Given the description of an element on the screen output the (x, y) to click on. 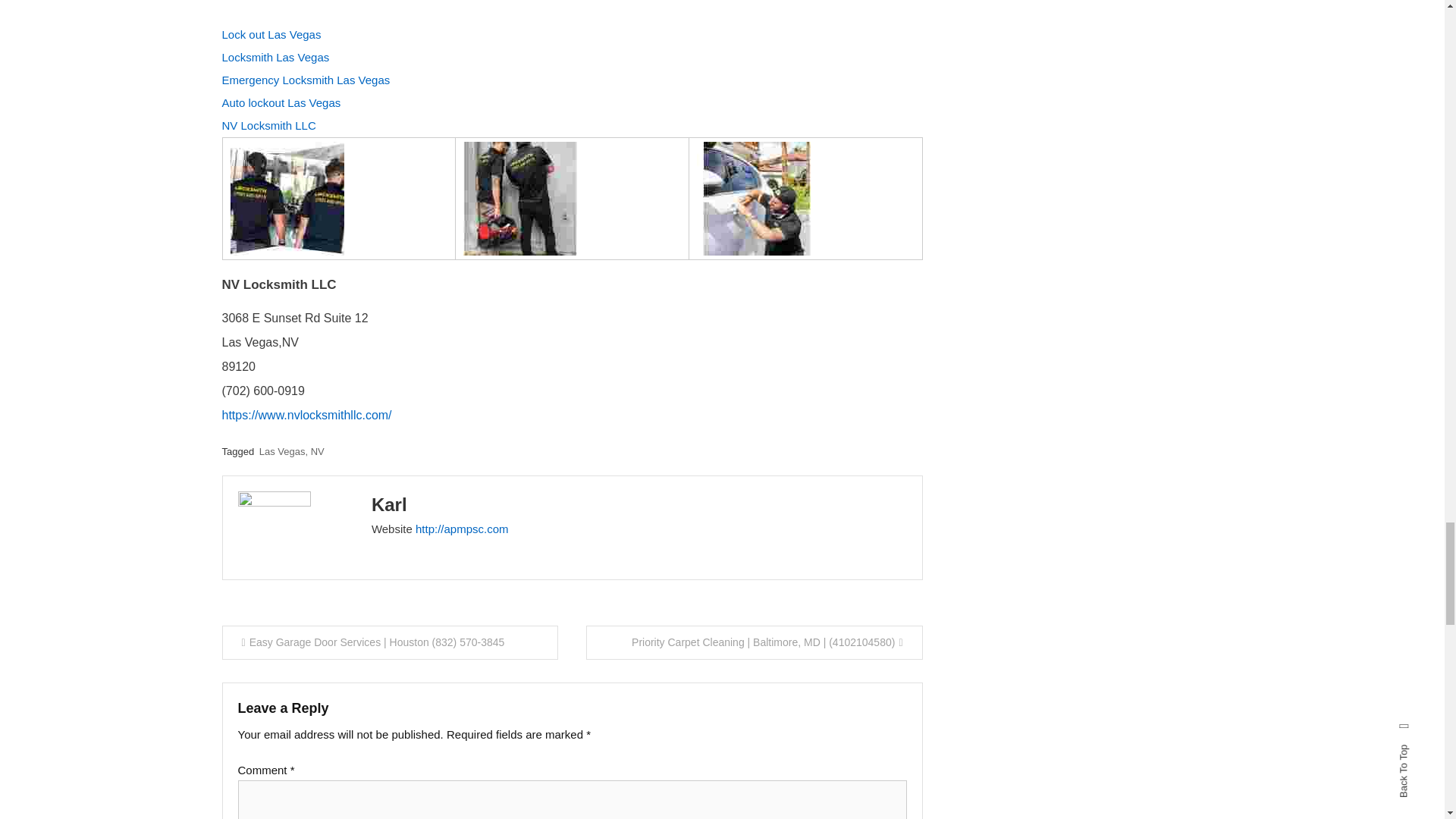
Posts by Karl (389, 504)
